Given the description of an element on the screen output the (x, y) to click on. 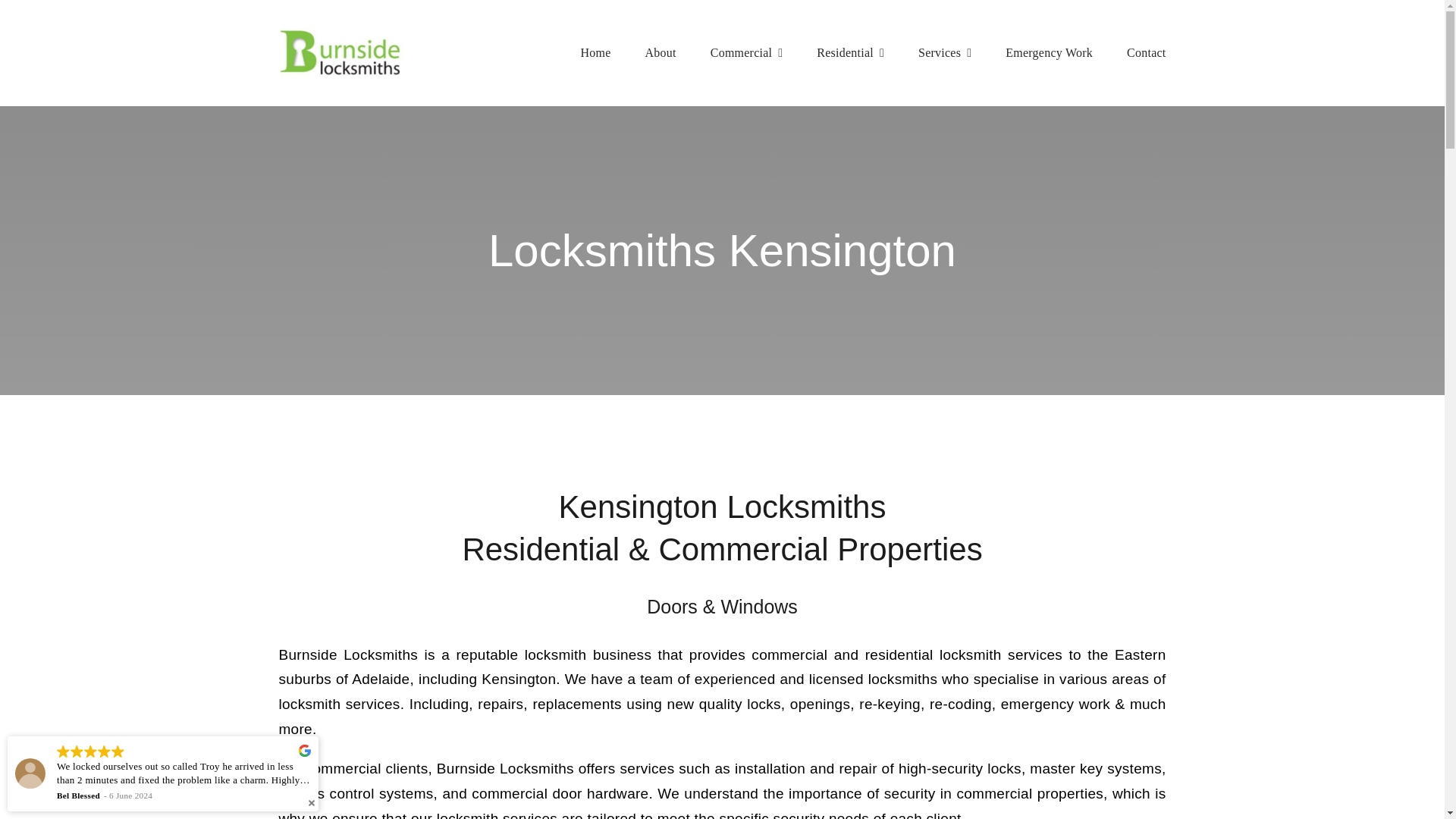
Services (944, 52)
Emergency Work (1049, 52)
Commercial (746, 52)
Residential (849, 52)
